Given the description of an element on the screen output the (x, y) to click on. 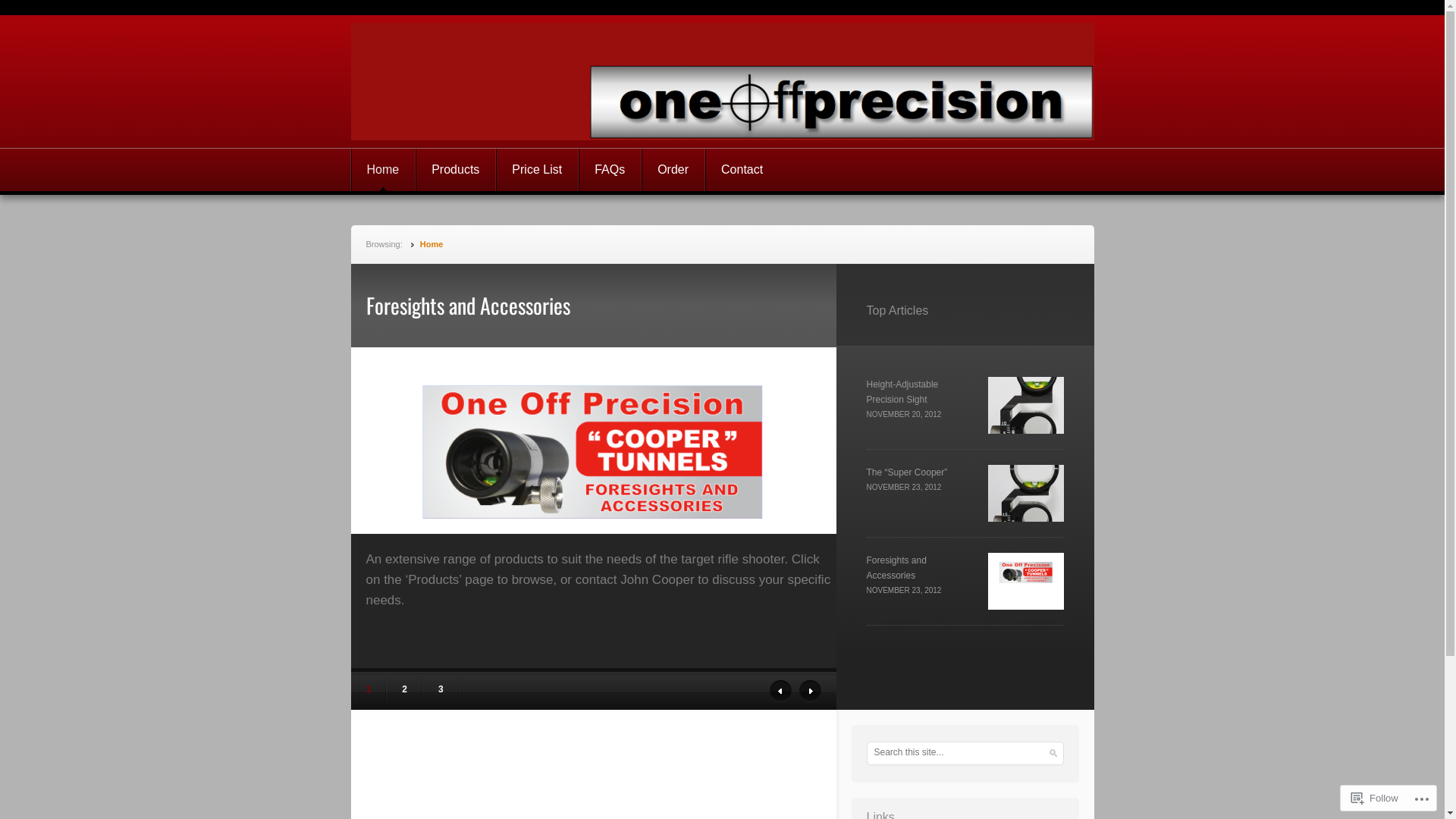
1 Element type: text (368, 689)
Foresights and Accessories Element type: hover (1025, 580)
Next Element type: text (810, 691)
2 Element type: text (404, 689)
Products Element type: text (455, 169)
Follow Element type: text (1374, 797)
oneoffprecision Element type: hover (721, 81)
3 Element type: text (441, 689)
Contact Element type: text (742, 169)
Foresights and Accessories Element type: text (895, 567)
NOVEMBER 23, 2012 Element type: text (903, 487)
Order Element type: text (673, 169)
Height-Adjustable Precision Sight Element type: hover (1025, 404)
Foresights and Accessories Element type: text (600, 305)
Height-Adjustable Precision Sight Element type: text (902, 391)
oneoffprecision Element type: text (461, 81)
FAQs Element type: text (609, 169)
Previous Element type: text (779, 691)
Search Element type: text (18, 9)
Home Element type: text (382, 169)
NOVEMBER 23, 2012 Element type: text (903, 590)
NOVEMBER 20, 2012 Element type: text (903, 414)
Home Element type: text (431, 243)
Price List Element type: text (536, 169)
